Given the description of an element on the screen output the (x, y) to click on. 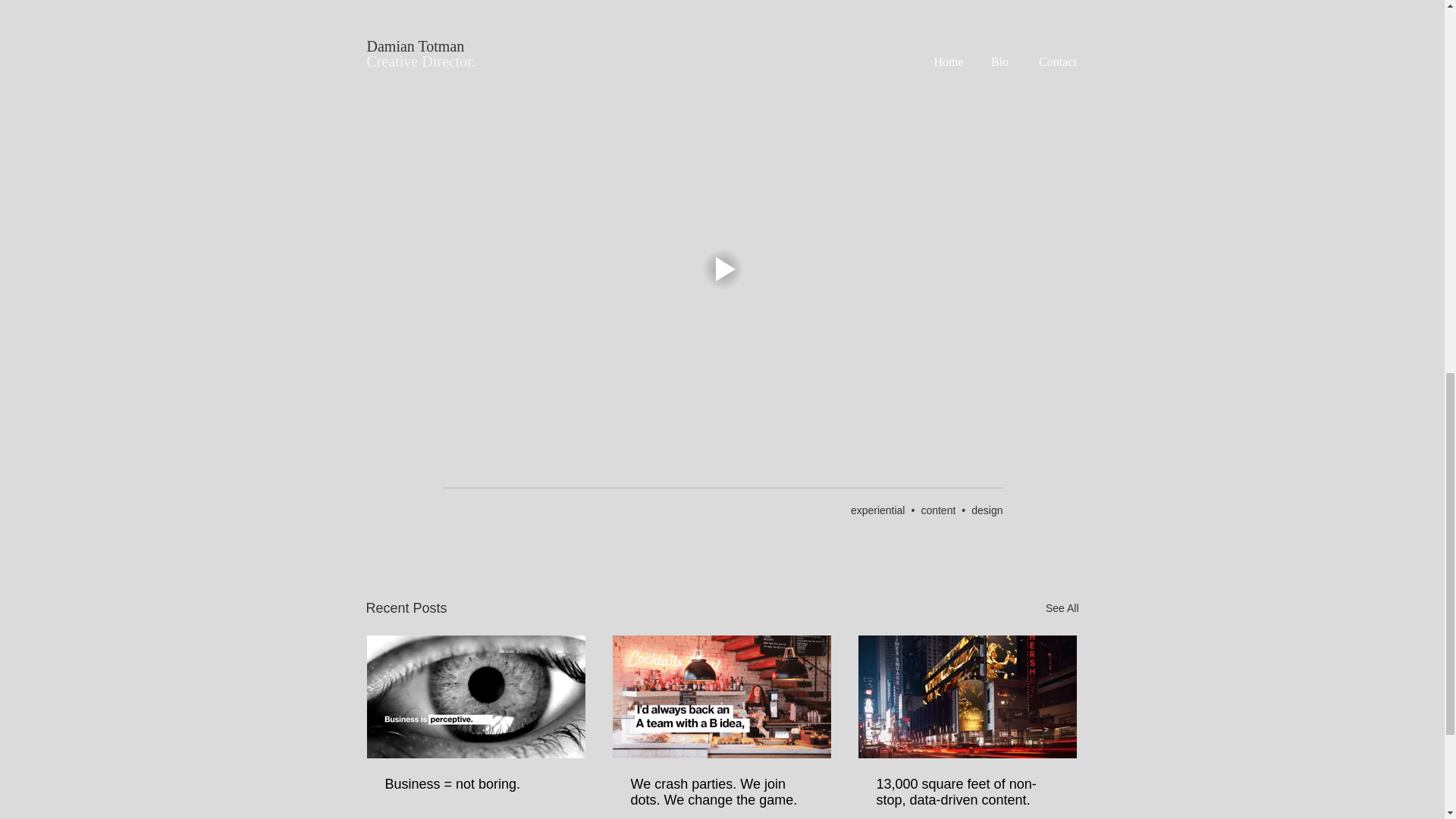
See All (1061, 608)
content (937, 510)
design (987, 510)
We crash parties. We join dots. We change the game. (721, 792)
13,000 square feet of non-stop, data-driven content. (967, 792)
experiential (877, 510)
